Given the description of an element on the screen output the (x, y) to click on. 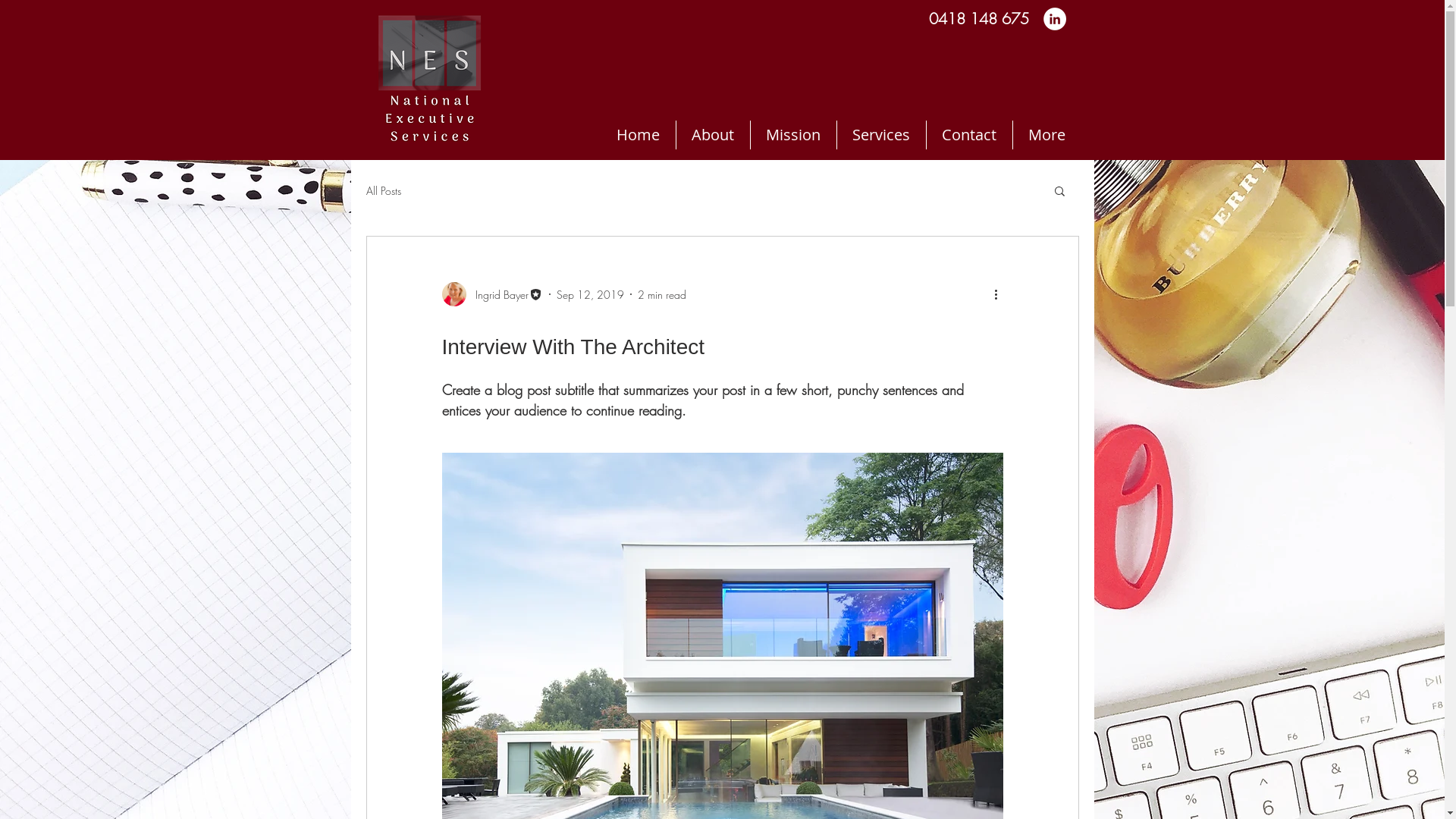
About Element type: text (711, 134)
Home Element type: text (637, 134)
All Posts Element type: text (382, 190)
Mission Element type: text (792, 134)
Ingrid Bayer Element type: text (491, 294)
Contact Element type: text (968, 134)
